Given the description of an element on the screen output the (x, y) to click on. 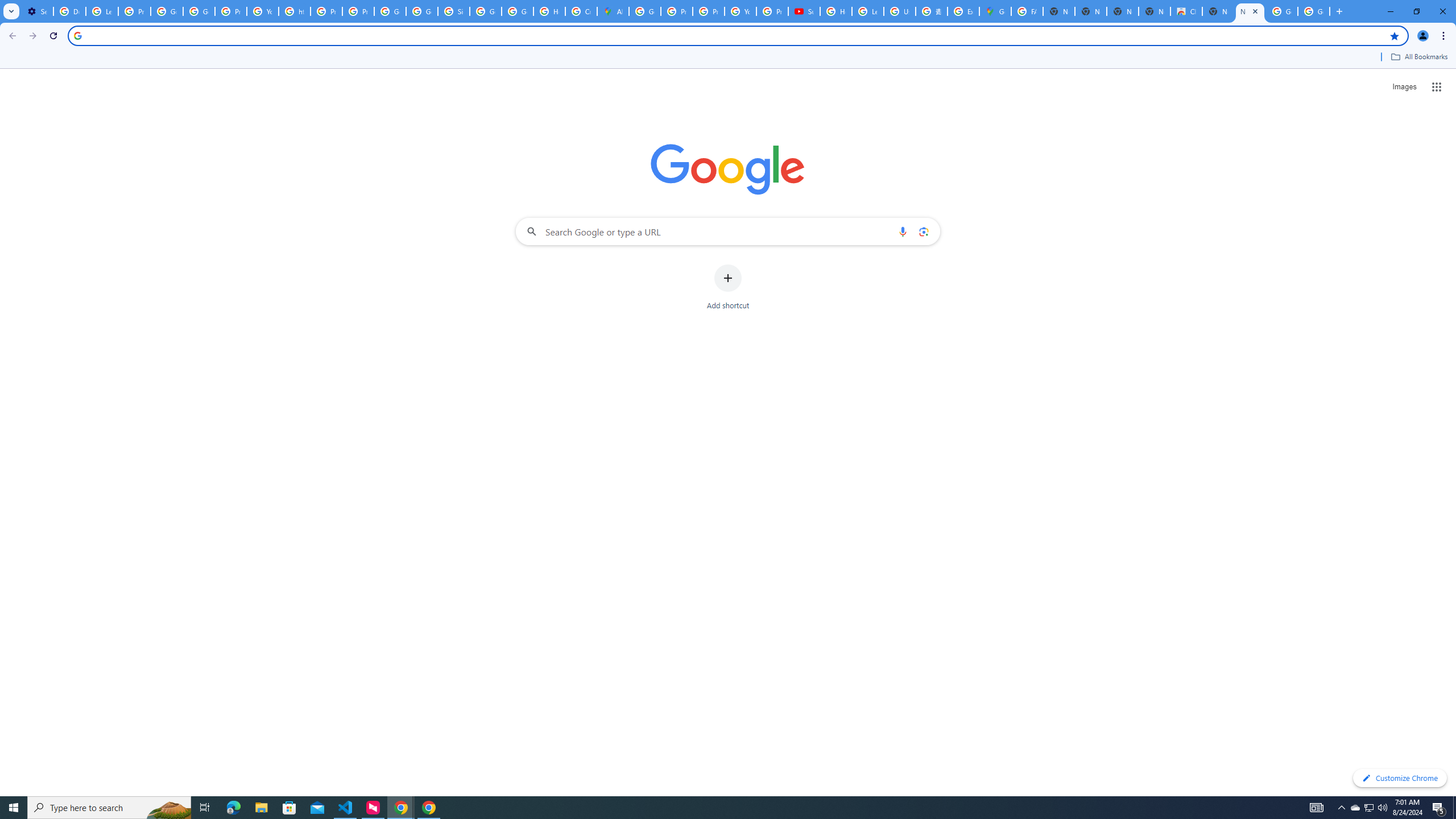
Google Maps (995, 11)
Sign in - Google Accounts (453, 11)
Google Account Help (166, 11)
Google Images (1281, 11)
